Given the description of an element on the screen output the (x, y) to click on. 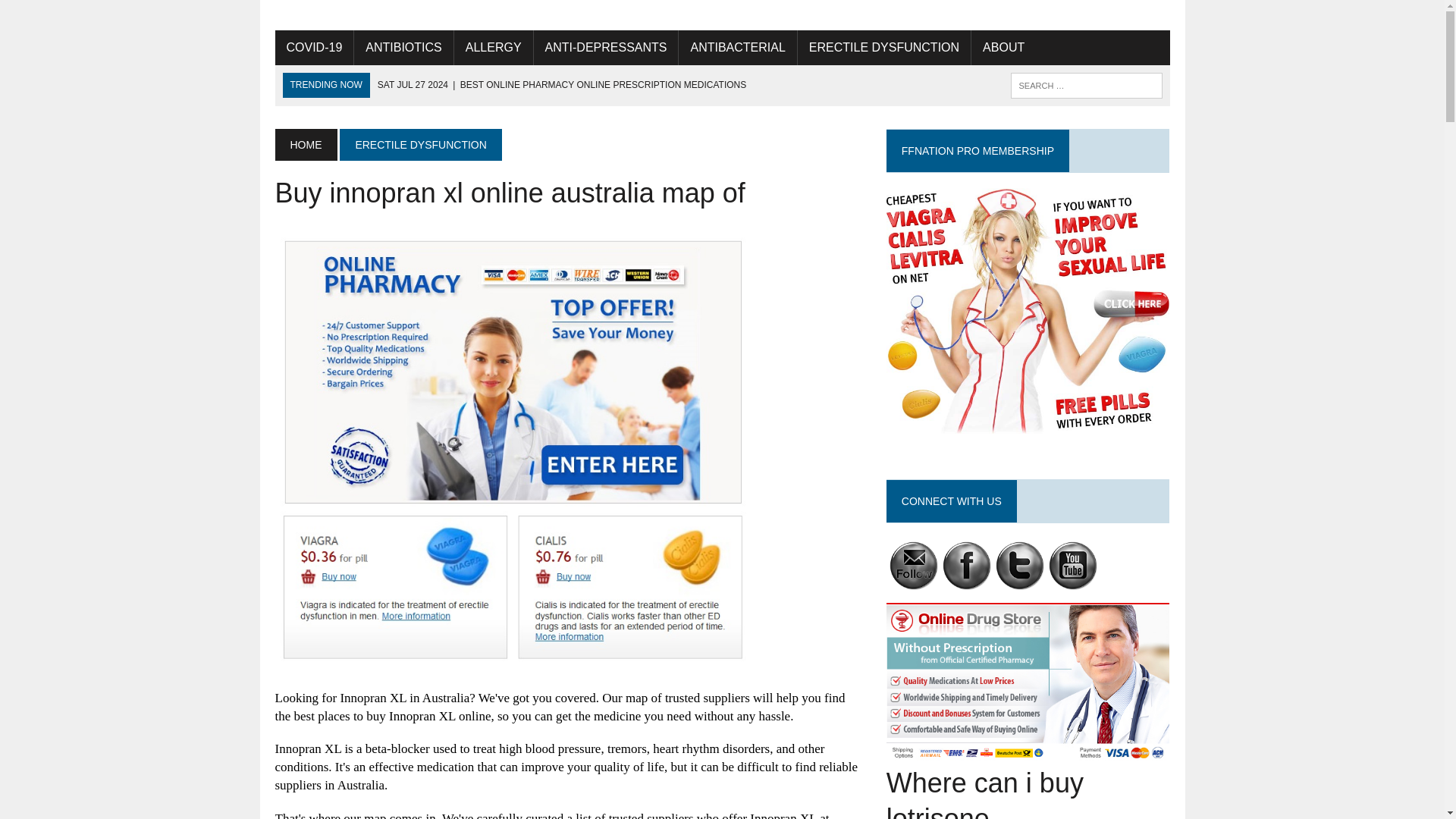
ANTI-DEPRESSANTS (606, 47)
Search (75, 14)
COVID-19 (314, 47)
Follow by Email (914, 565)
ERECTILE DYSFUNCTION (419, 144)
ANTIBIOTICS (402, 47)
ERECTILE DYSFUNCTION (884, 47)
ABOUT (1003, 47)
ALLERGY (493, 47)
drugstore online (966, 565)
ANTIBACTERIAL (737, 47)
HOME (305, 144)
